Given the description of an element on the screen output the (x, y) to click on. 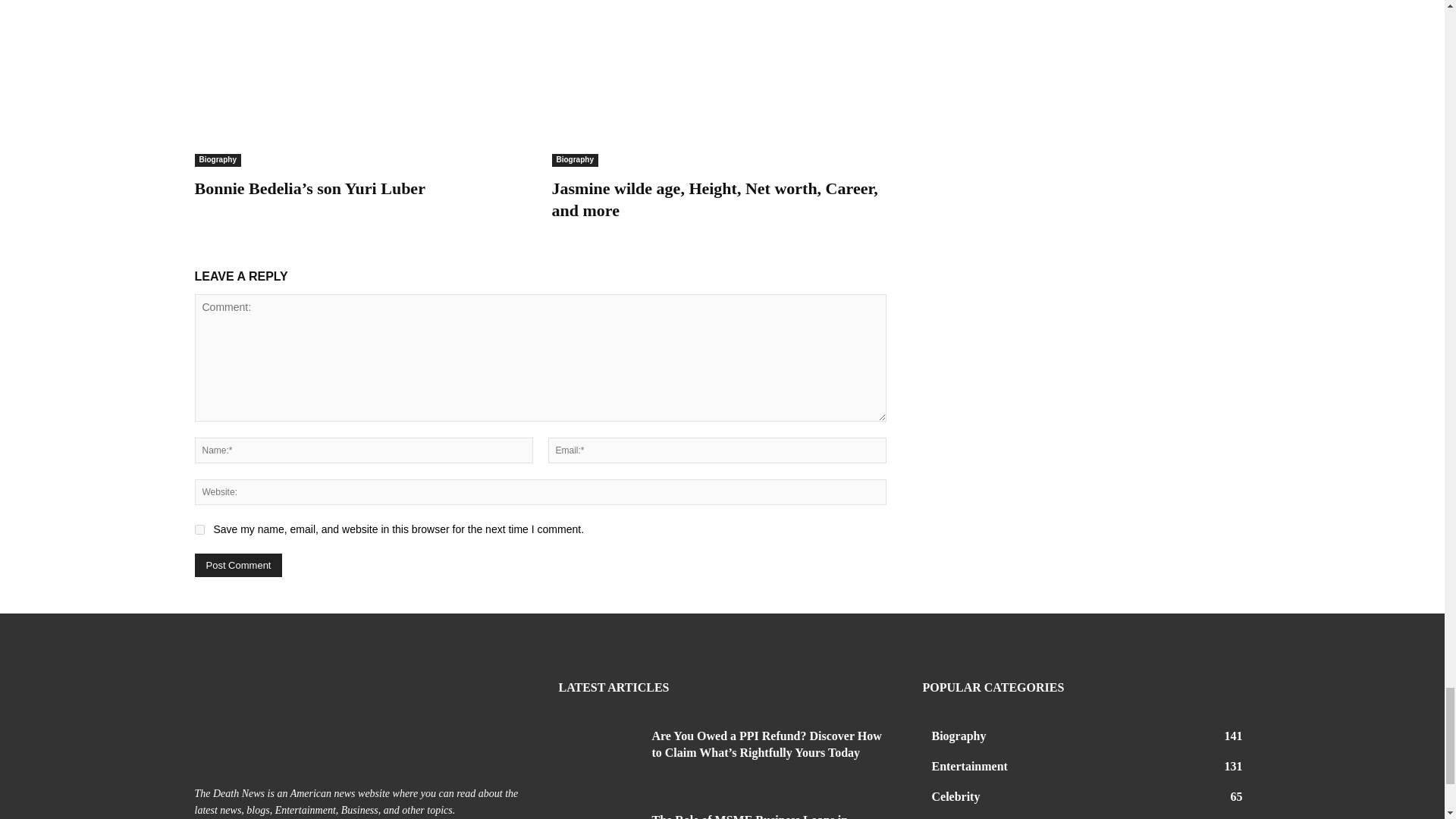
Post Comment (237, 565)
yes (198, 529)
